Given the description of an element on the screen output the (x, y) to click on. 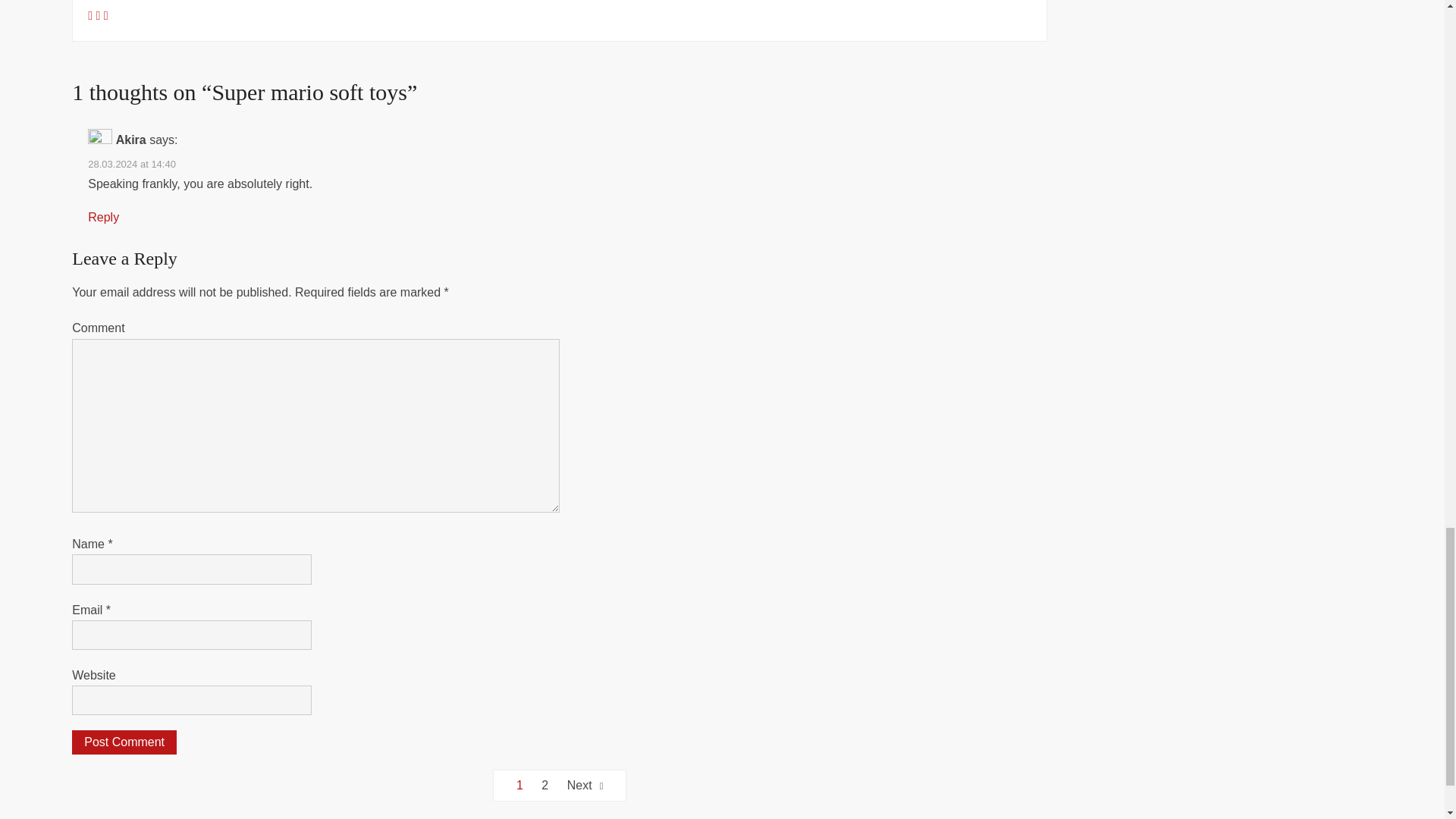
Post Comment (123, 742)
Next (585, 785)
Post Comment (123, 742)
28.03.2024 at 14:40 (131, 163)
Reply (103, 216)
